Given the description of an element on the screen output the (x, y) to click on. 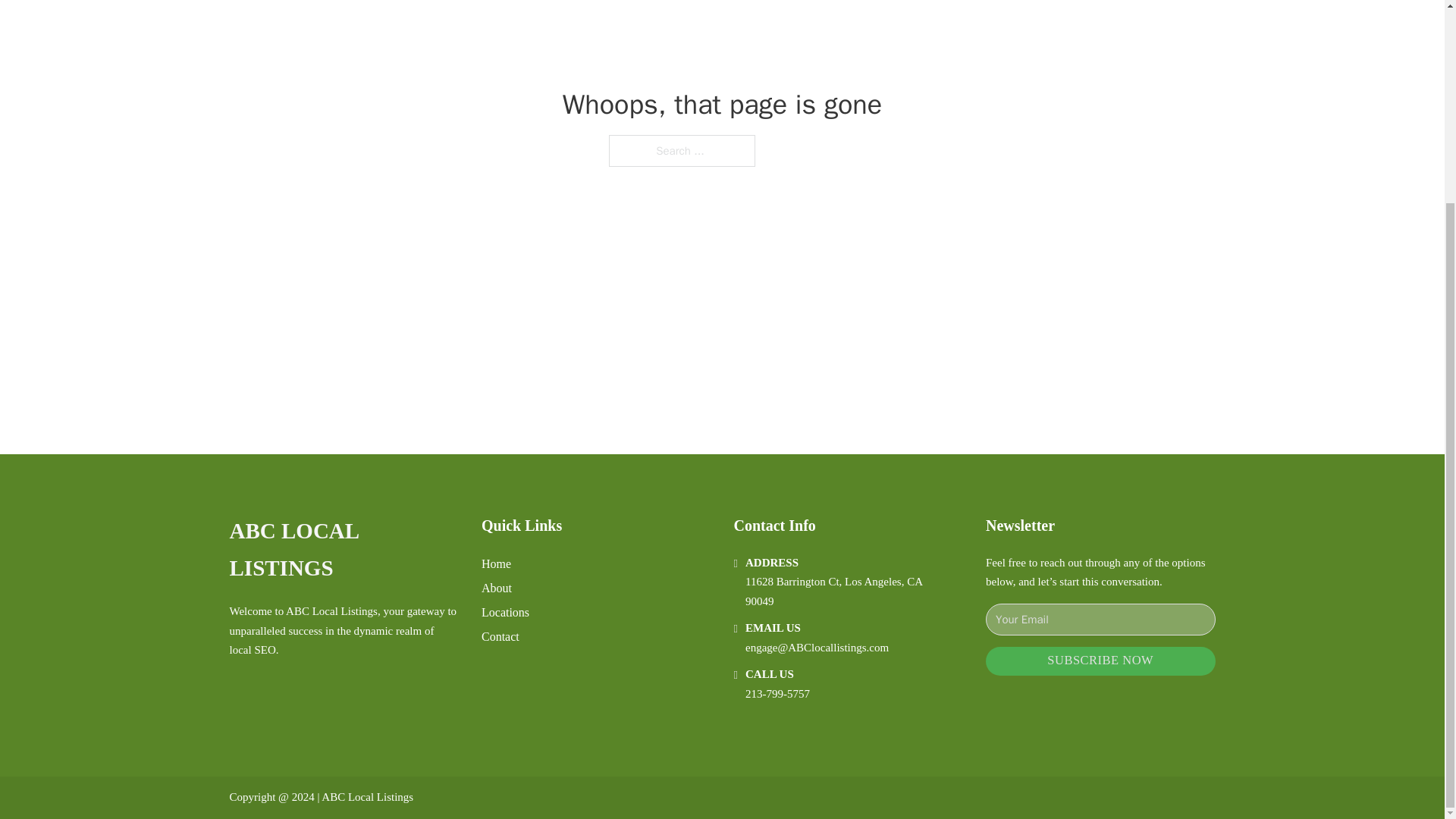
Locations (505, 611)
SUBSCRIBE NOW (1100, 661)
Home (496, 563)
Contact (500, 636)
ABC LOCAL LISTINGS (343, 550)
213-799-5757 (777, 693)
About (496, 588)
